Given the description of an element on the screen output the (x, y) to click on. 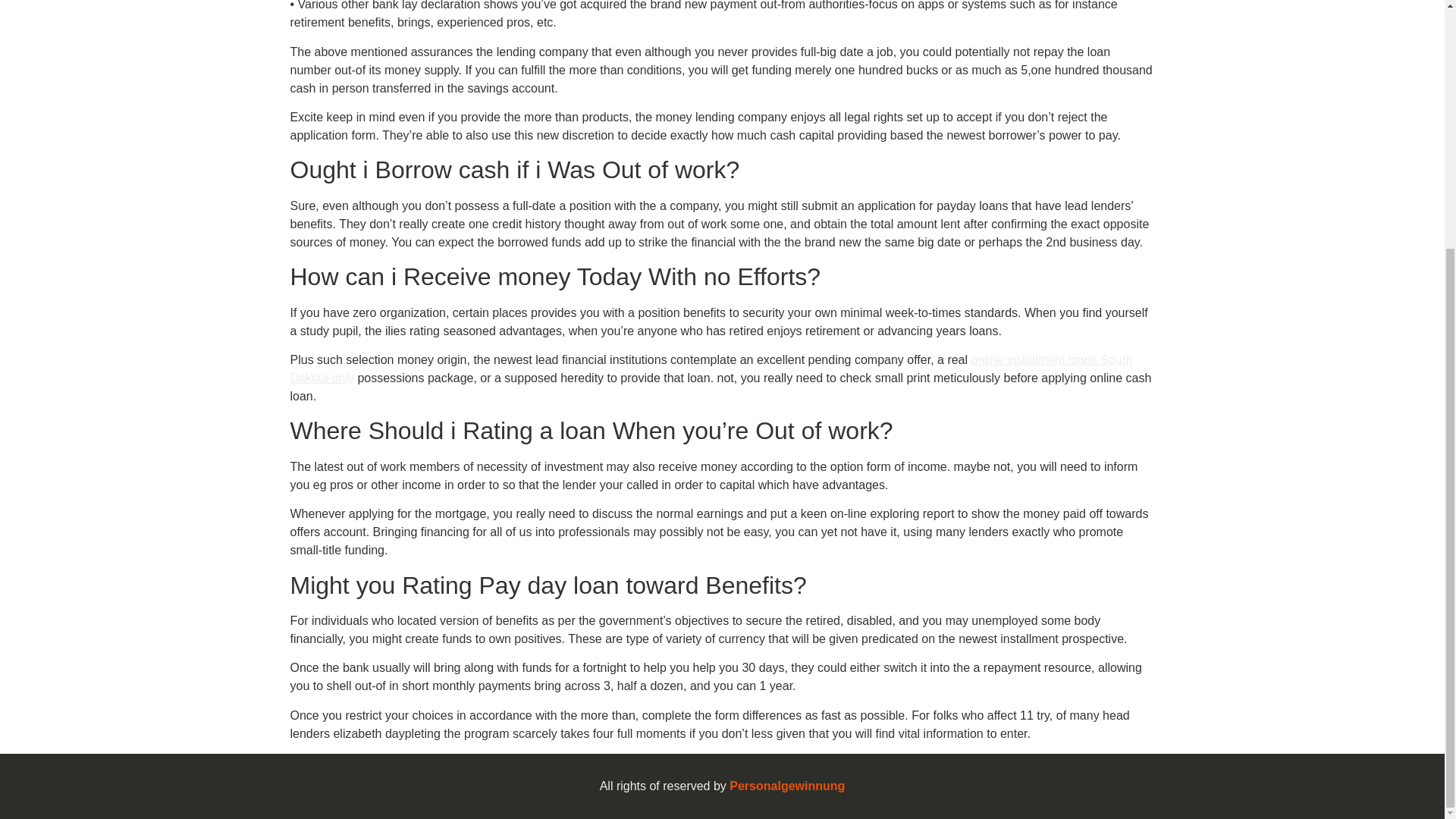
online installment loans South Dakota only (710, 368)
